Given the description of an element on the screen output the (x, y) to click on. 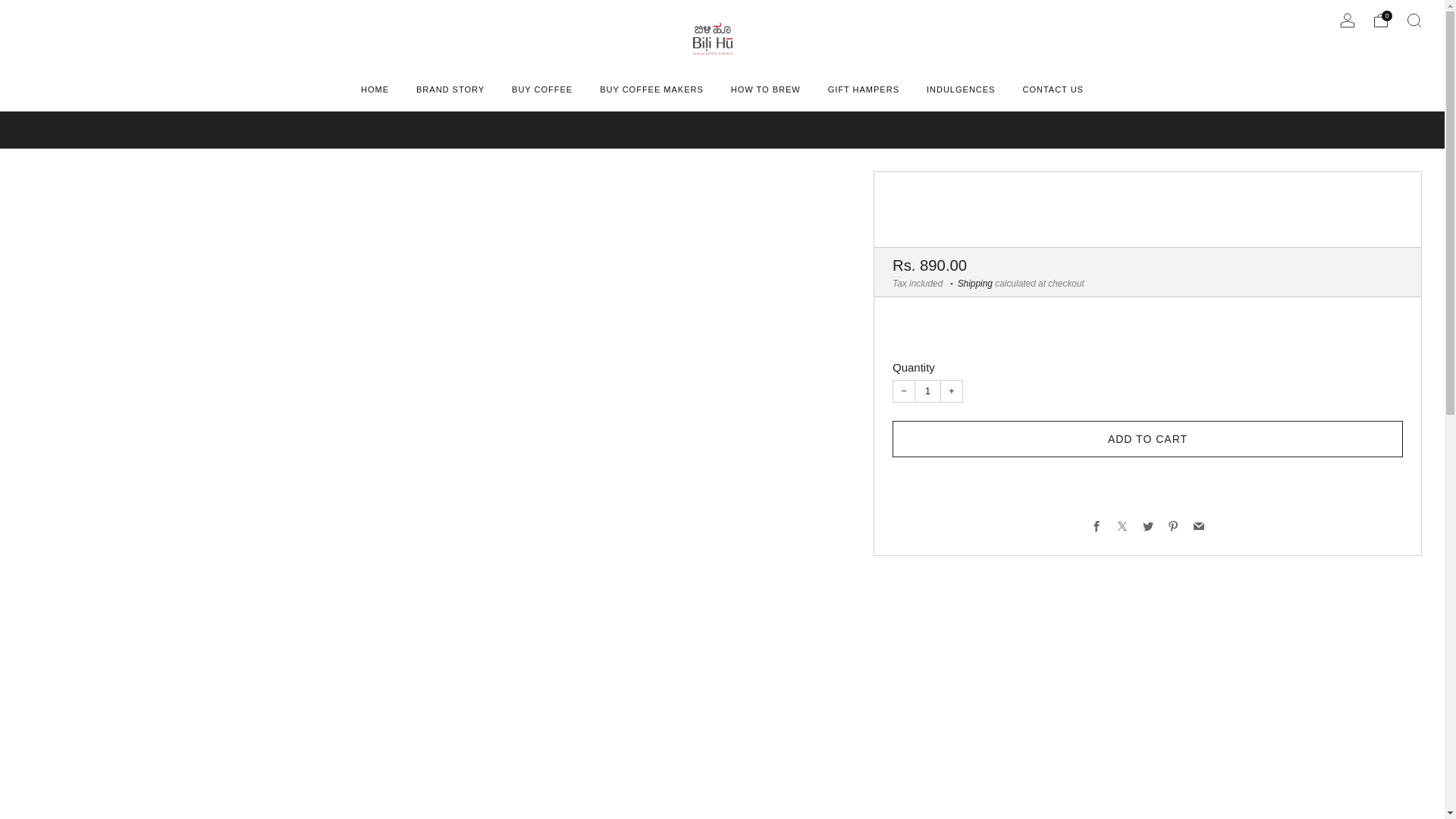
BUY COFFEE MAKERS (651, 88)
BUY COFFEE (542, 88)
GIFT HAMPERS (863, 88)
BRAND STORY (450, 88)
0 (1381, 20)
INDULGENCES (960, 88)
HOW TO BREW (765, 88)
CONTACT US (1052, 88)
HOME (374, 88)
ADD TO CART (1147, 438)
Shipping (975, 283)
1 (927, 391)
